Given the description of an element on the screen output the (x, y) to click on. 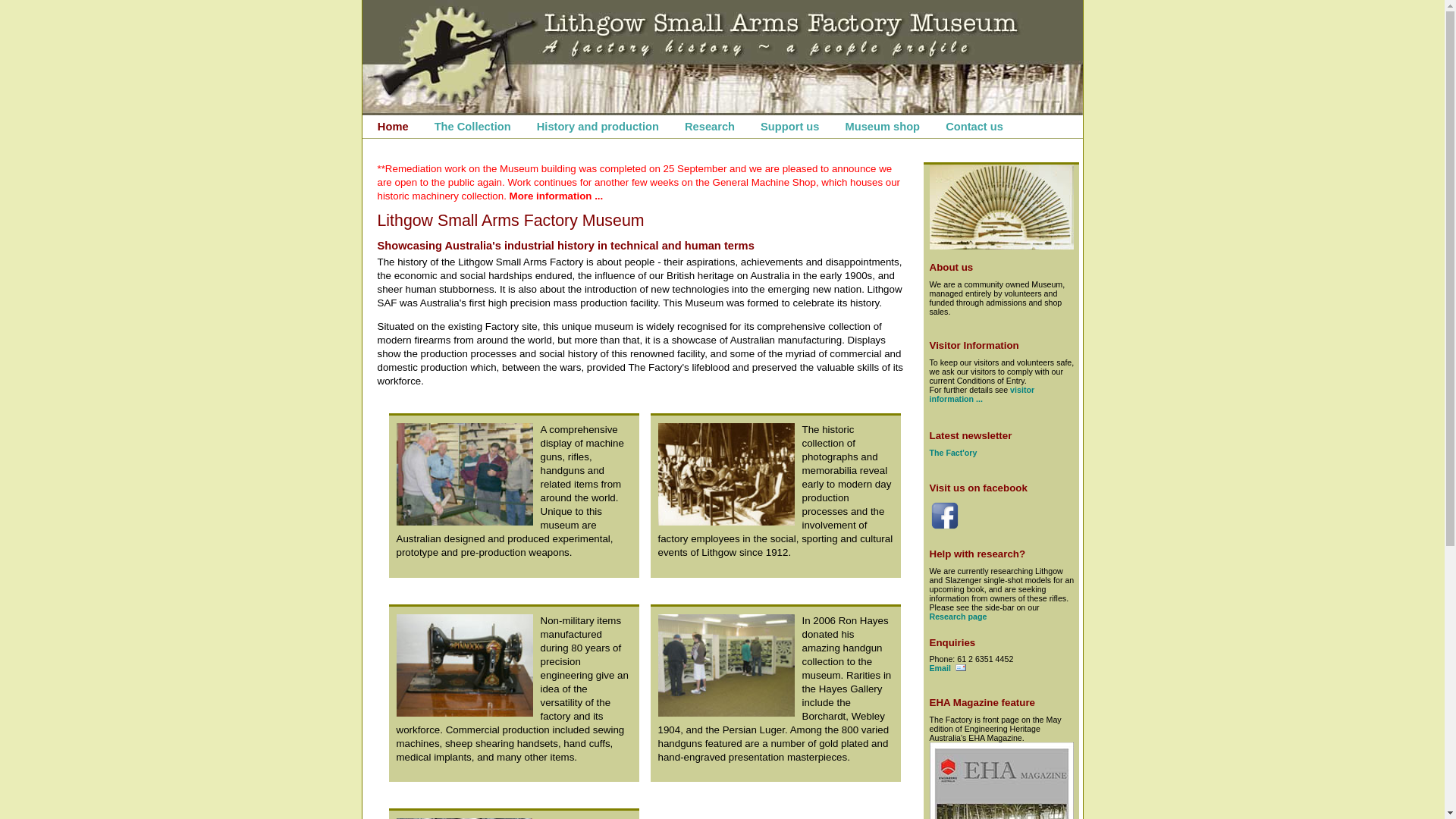
Home Element type: text (393, 126)
Support us Element type: text (789, 126)
Museum shop Element type: text (882, 126)
Email Element type: text (947, 667)
The Fact'ory Element type: text (953, 452)
More information ... Element type: text (556, 195)
Research page Element type: text (958, 616)
Contact us Element type: text (974, 126)
visitor information ... Element type: text (982, 394)
Research Element type: text (709, 126)
History and production Element type: text (597, 126)
The Collection Element type: text (472, 126)
